Given the description of an element on the screen output the (x, y) to click on. 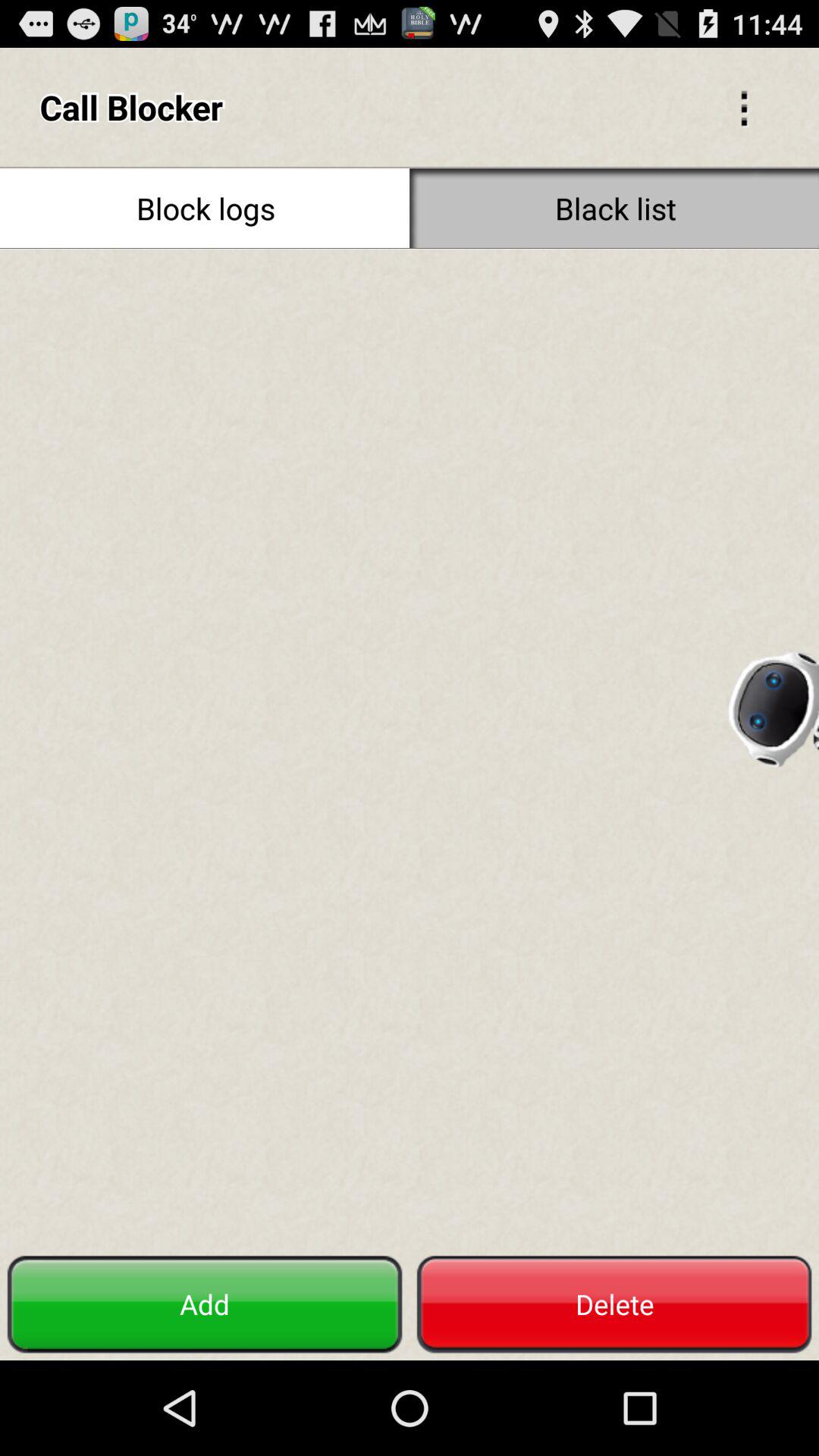
scroll to block logs icon (204, 207)
